Given the description of an element on the screen output the (x, y) to click on. 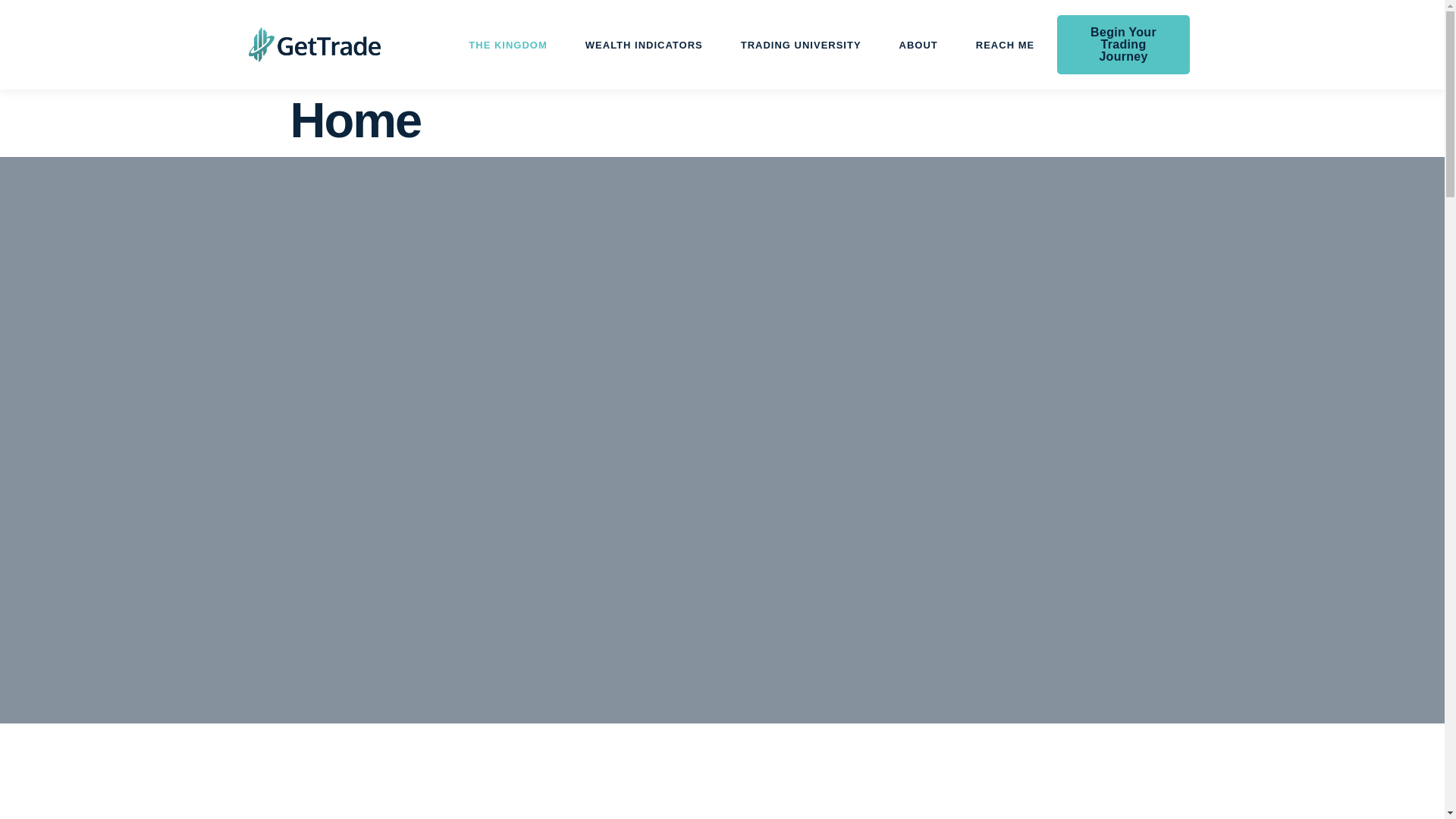
TRADING UNIVERSITY (801, 43)
Begin Your Trading Journey (1123, 44)
THE KINGDOM (507, 43)
WEALTH INDICATORS (644, 43)
REACH ME (1004, 43)
ABOUT (918, 43)
